Given the description of an element on the screen output the (x, y) to click on. 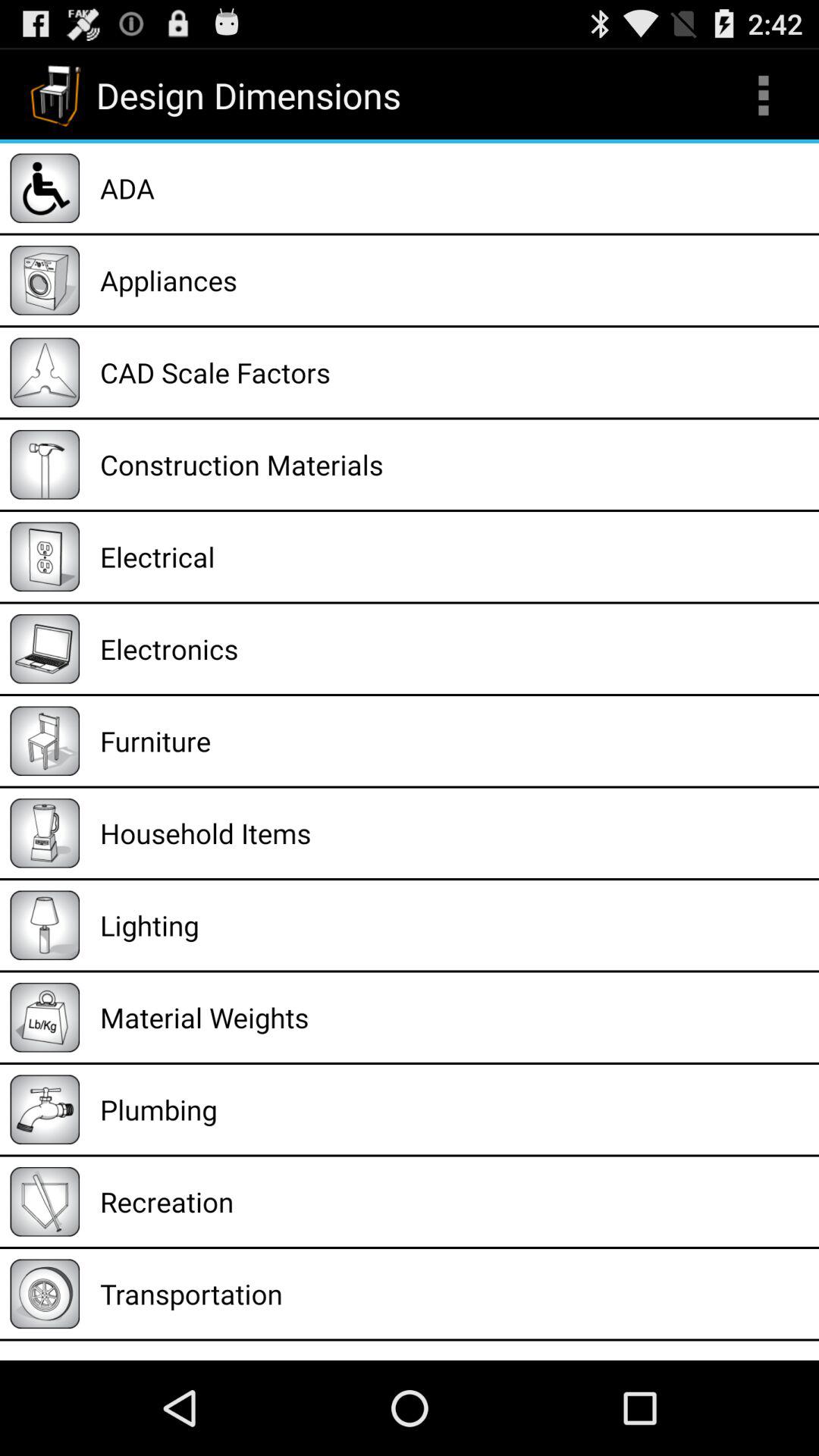
tap the furniture (454, 741)
